Given the description of an element on the screen output the (x, y) to click on. 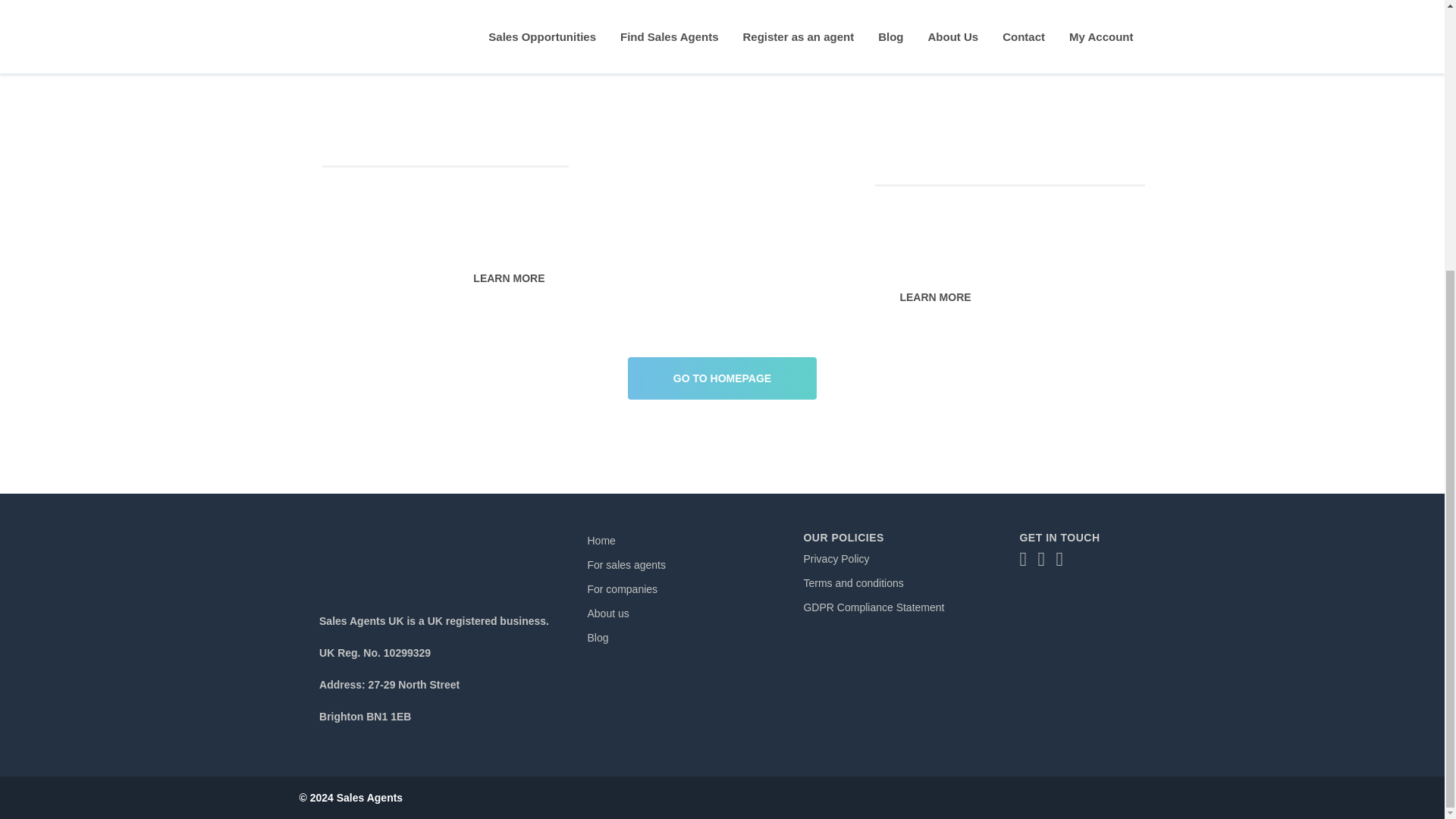
About us (607, 613)
GO TO HOMEPAGE (721, 370)
Privacy Policy (836, 558)
LEARN MORE (934, 296)
Terms and conditions (852, 582)
LEARN MORE (508, 277)
Home (600, 540)
GO TO HOMEPAGE (721, 378)
For companies (622, 589)
Blog (597, 637)
GDPR Compliance Statement (873, 607)
For sales agents (625, 564)
